Given the description of an element on the screen output the (x, y) to click on. 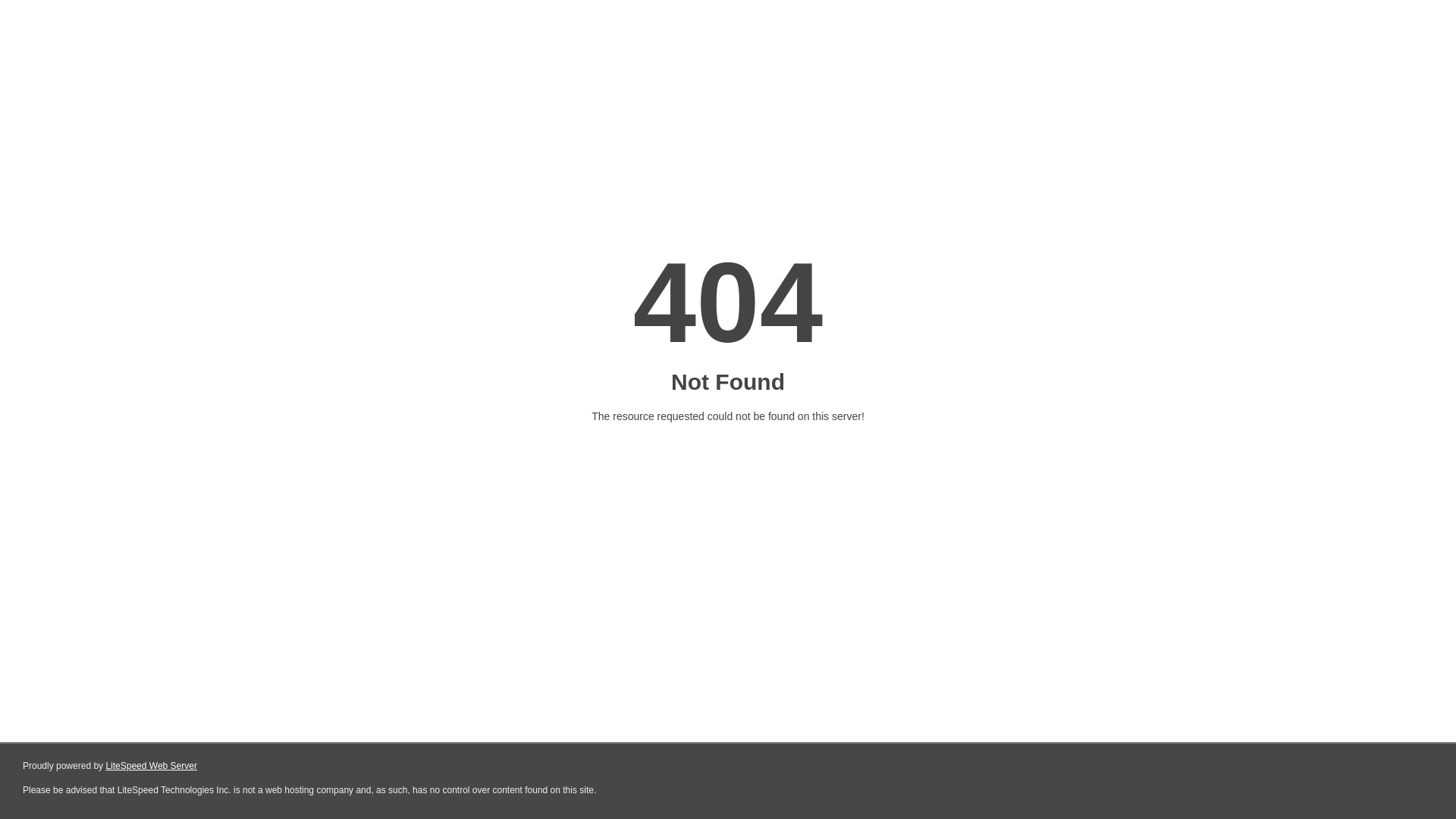
LiteSpeed Web Server (150, 765)
